Given the description of an element on the screen output the (x, y) to click on. 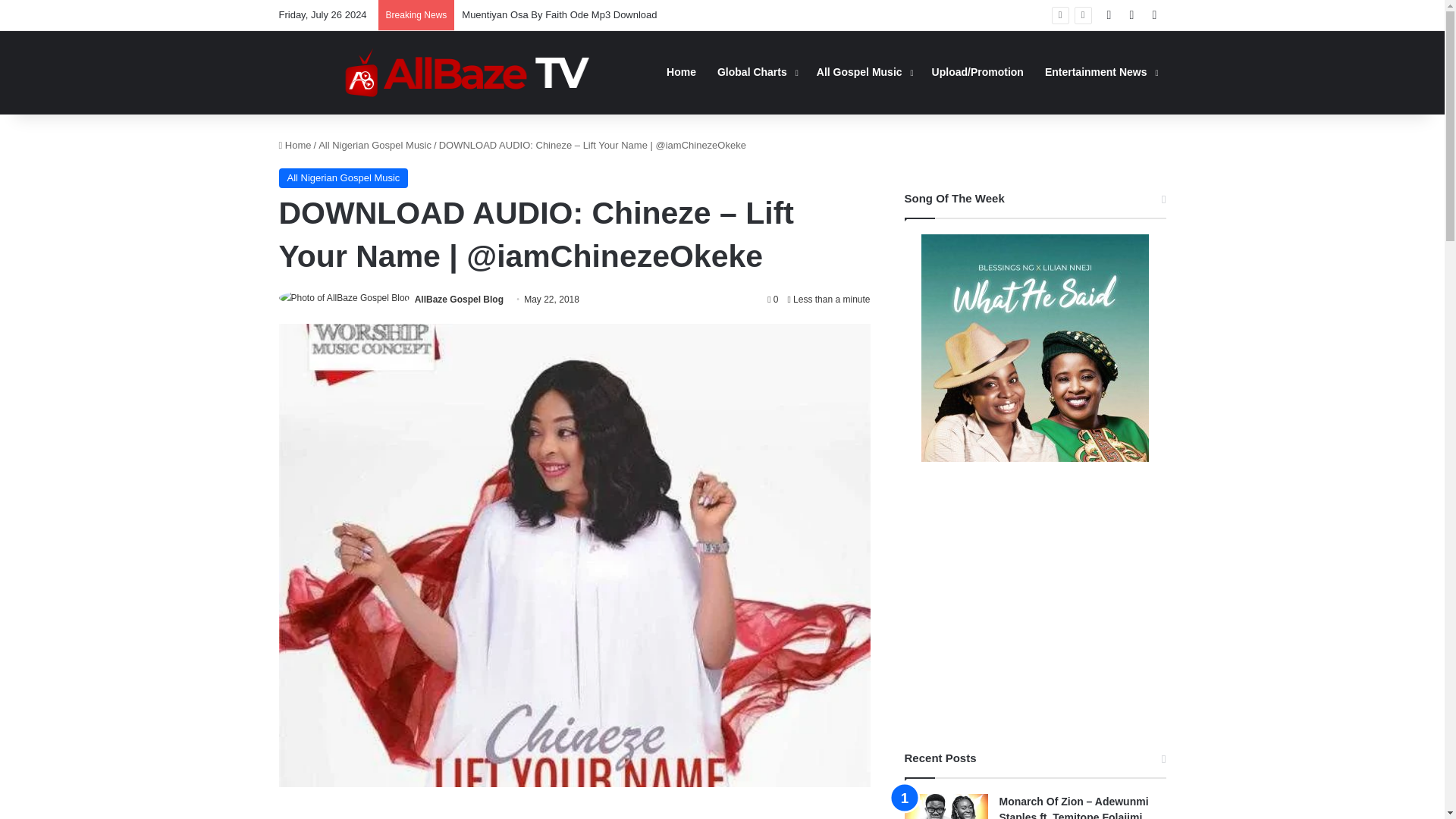
Allbaze.com (467, 72)
All Nigerian Gospel Music (344, 178)
All Nigerian Gospel Music (374, 144)
Home (295, 144)
Song Of The Week (1034, 347)
Entertainment News (1099, 72)
Global Charts (756, 72)
All Gospel Music (863, 72)
AllBaze Gospel Blog (458, 299)
Muentiyan Osa By Faith Ode Mp3 Download (558, 14)
AllBaze Gospel Blog (458, 299)
